Given the description of an element on the screen output the (x, y) to click on. 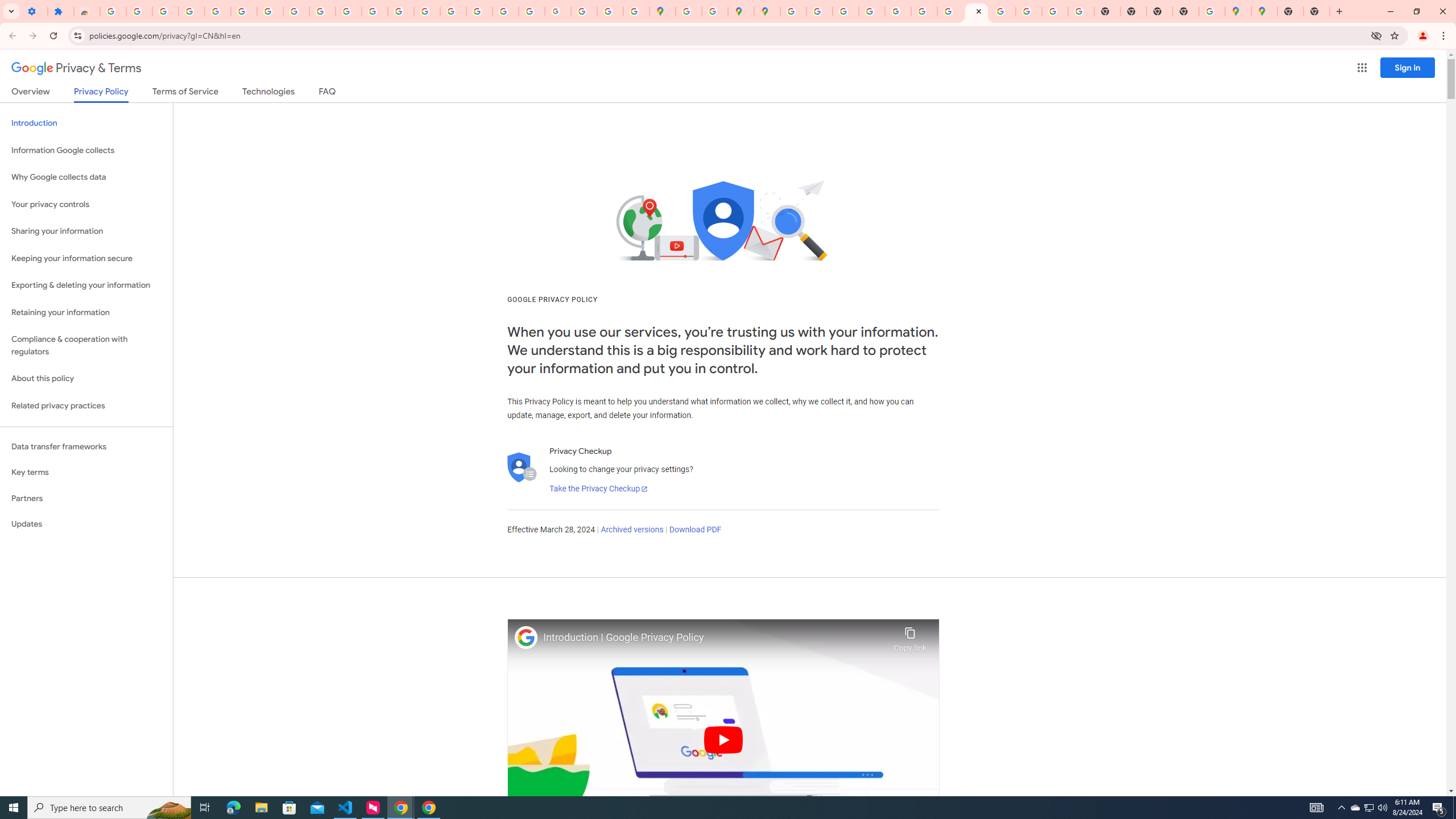
Create your Google Account (715, 11)
